Given the description of an element on the screen output the (x, y) to click on. 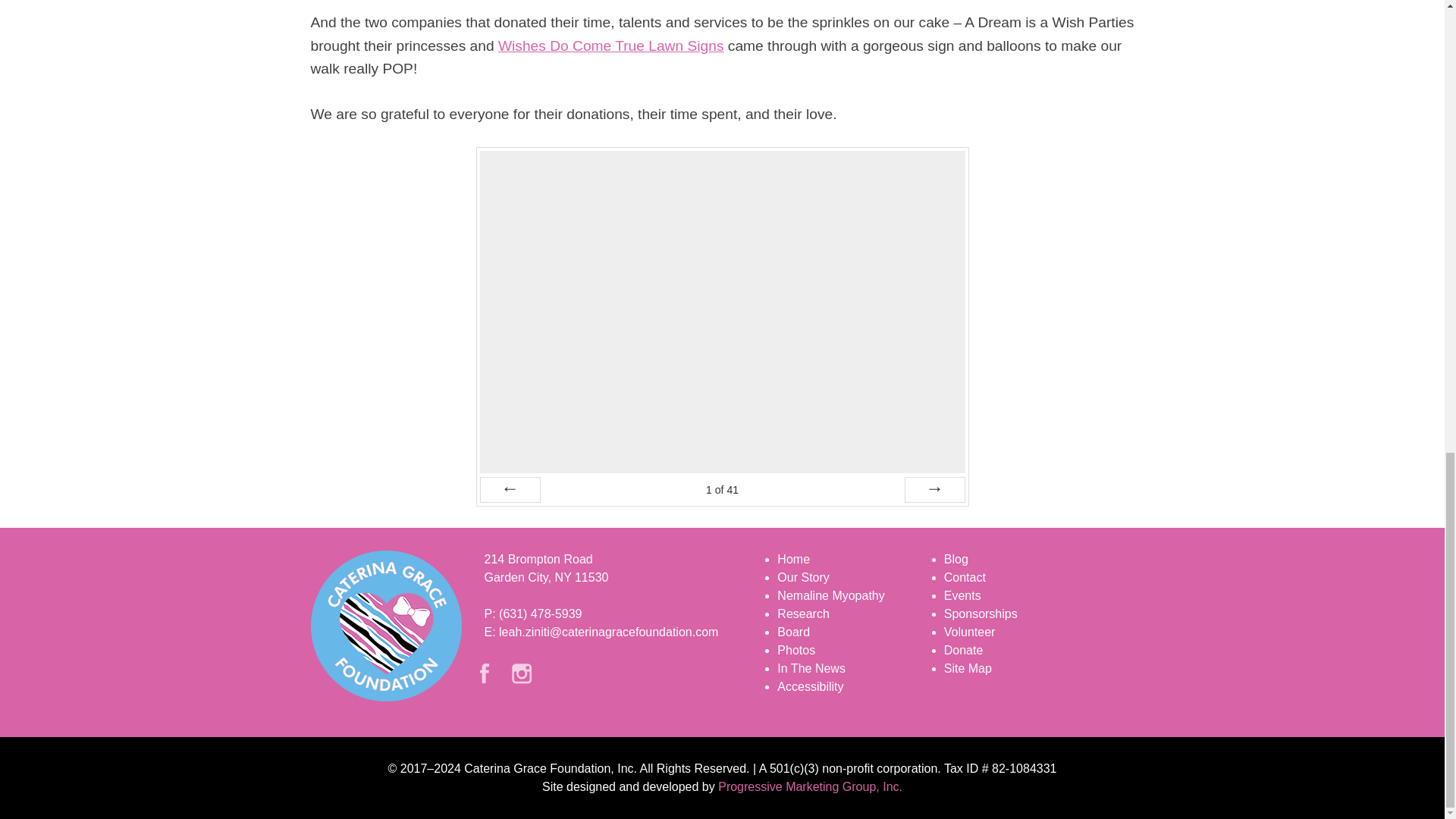
Wishes Do Come True Lawn Signs (610, 45)
